Given the description of an element on the screen output the (x, y) to click on. 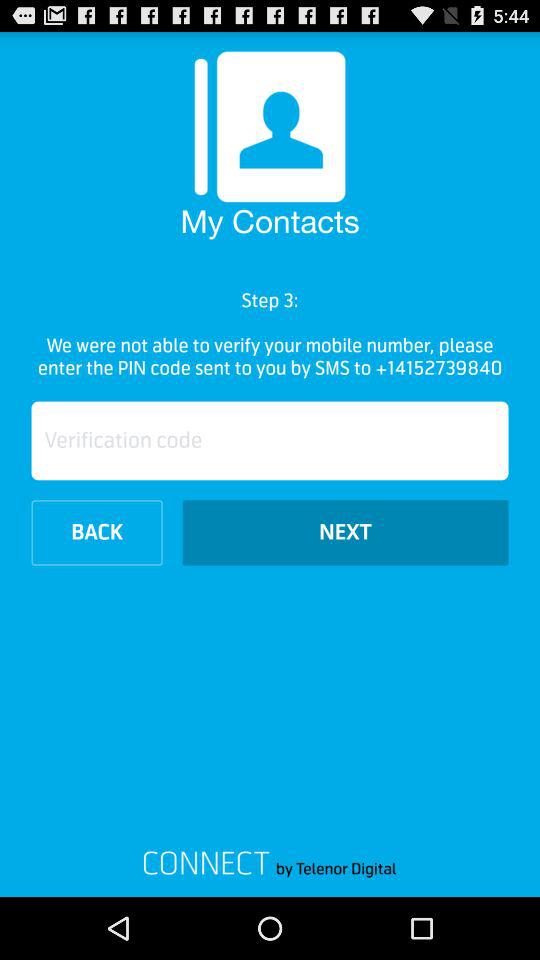
press back item (96, 532)
